Given the description of an element on the screen output the (x, y) to click on. 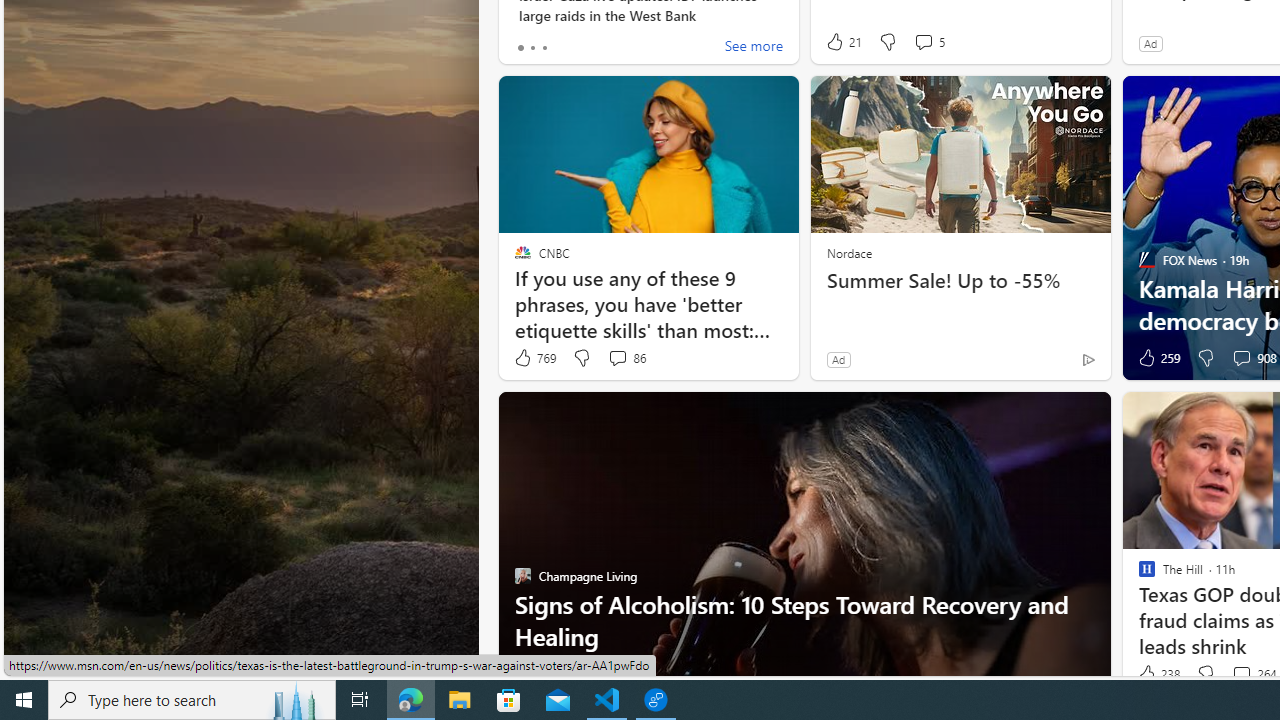
View comments 5 Comment (928, 42)
259 Like (1157, 358)
Summer Sale! Up to -55% (959, 281)
tab-2 (543, 47)
21 Like (843, 42)
View comments 908 Comment (1241, 357)
238 Like (1157, 674)
